Given the description of an element on the screen output the (x, y) to click on. 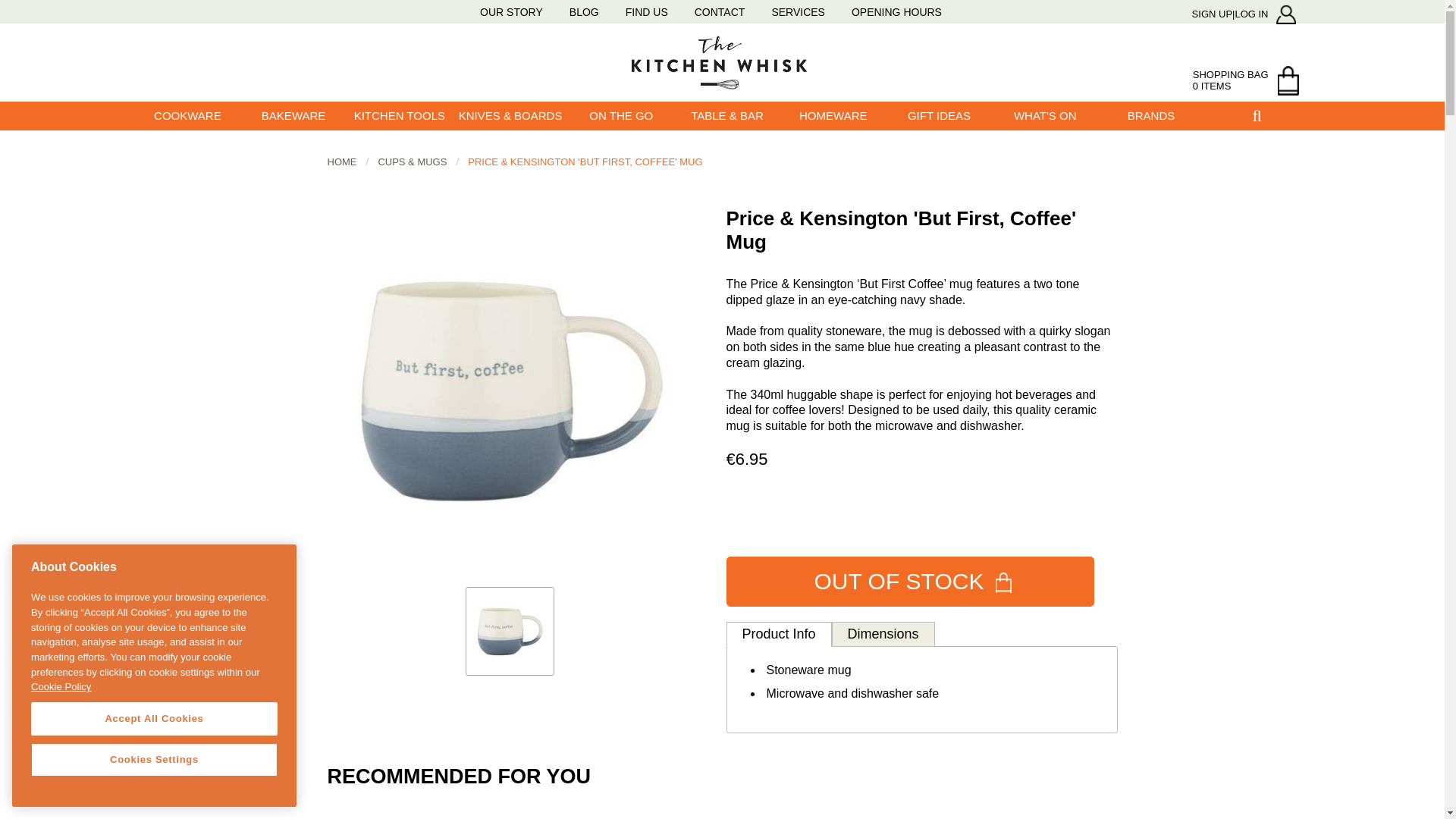
Our Story (511, 11)
Blog (583, 11)
BLOG (583, 11)
Find Us (647, 11)
SERVICES (798, 11)
Cookware (188, 115)
COOKWARE (188, 115)
Opening Hours  (896, 11)
The Kitchen Whisk (722, 61)
Services (798, 11)
